Given the description of an element on the screen output the (x, y) to click on. 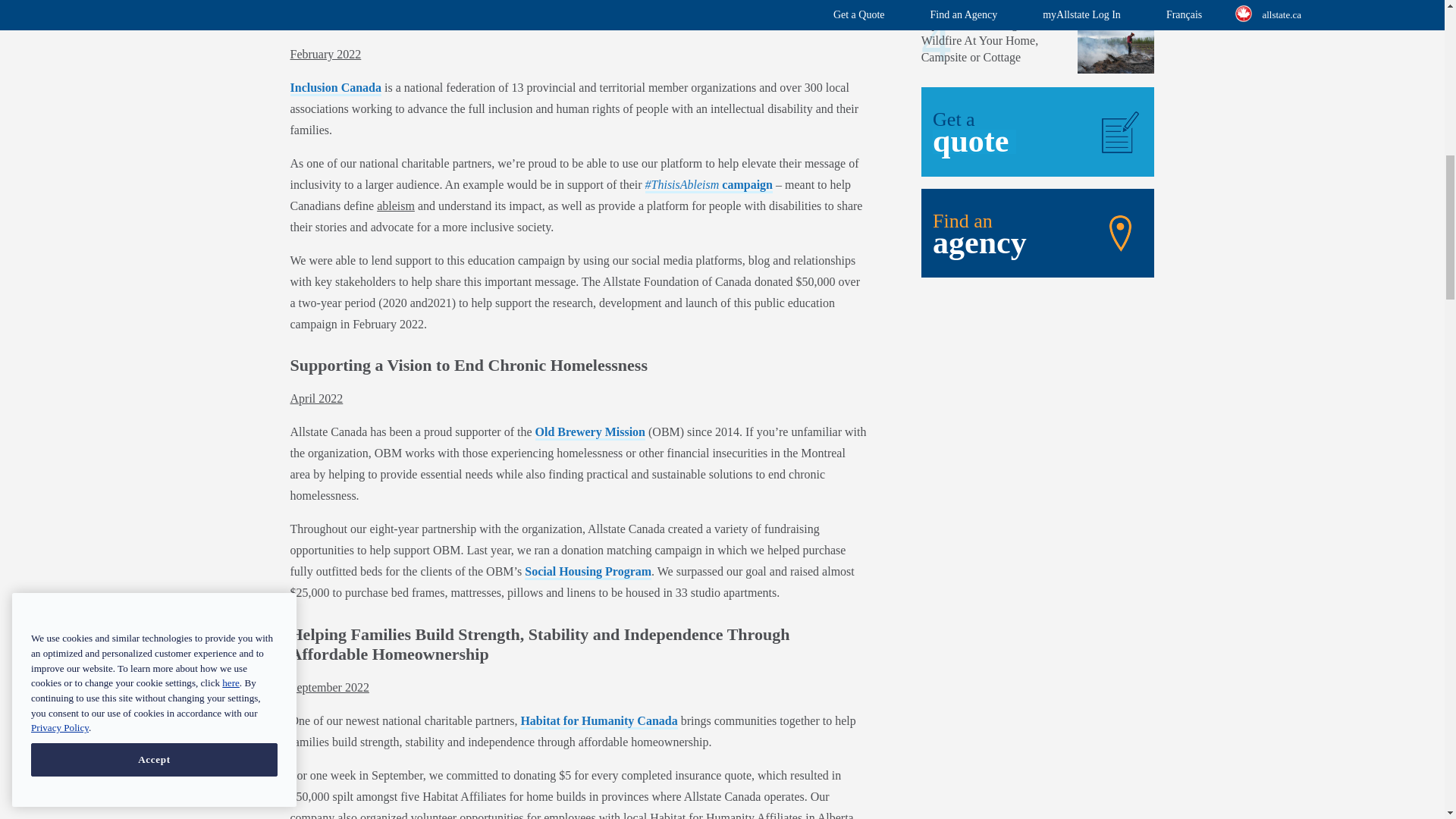
Old Brewery Mission (590, 432)
Habitat for Humanity Canada (598, 721)
Social Housing Program (587, 572)
Inclusion Canada (335, 88)
